Given the description of an element on the screen output the (x, y) to click on. 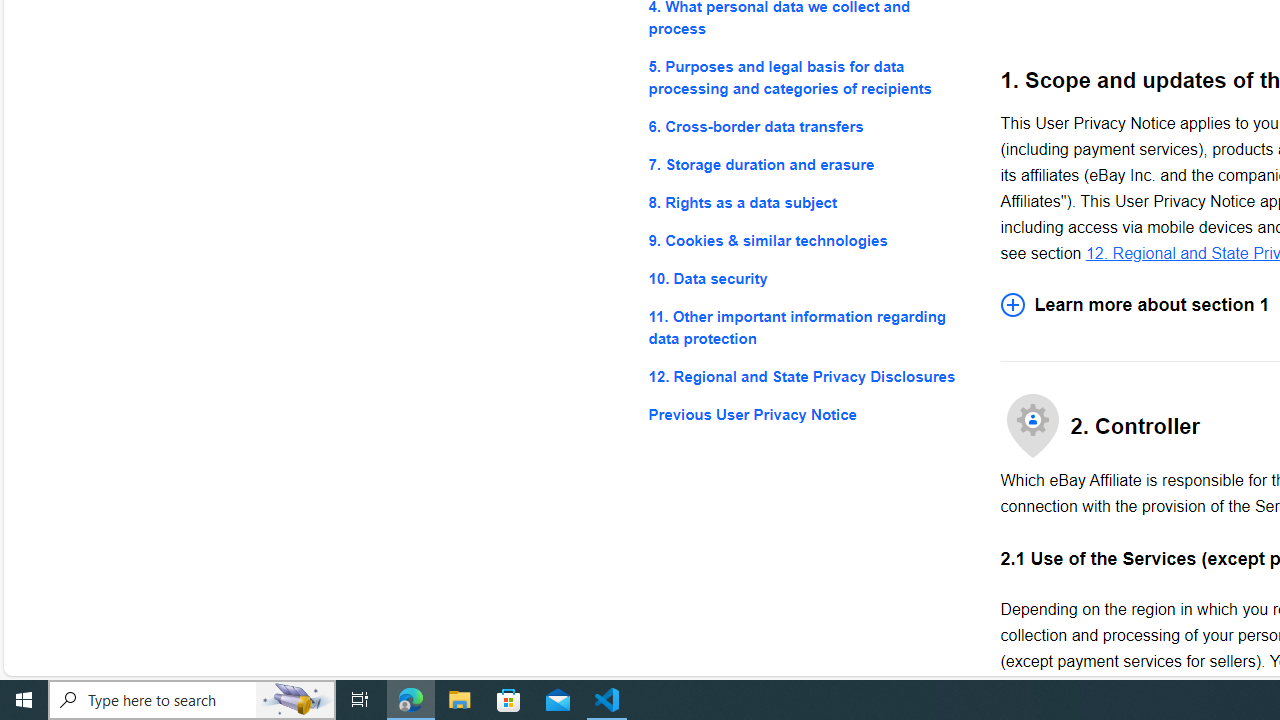
12. Regional and State Privacy Disclosures (807, 376)
8. Rights as a data subject (807, 203)
12. Regional and State Privacy Disclosures (807, 376)
